Given the description of an element on the screen output the (x, y) to click on. 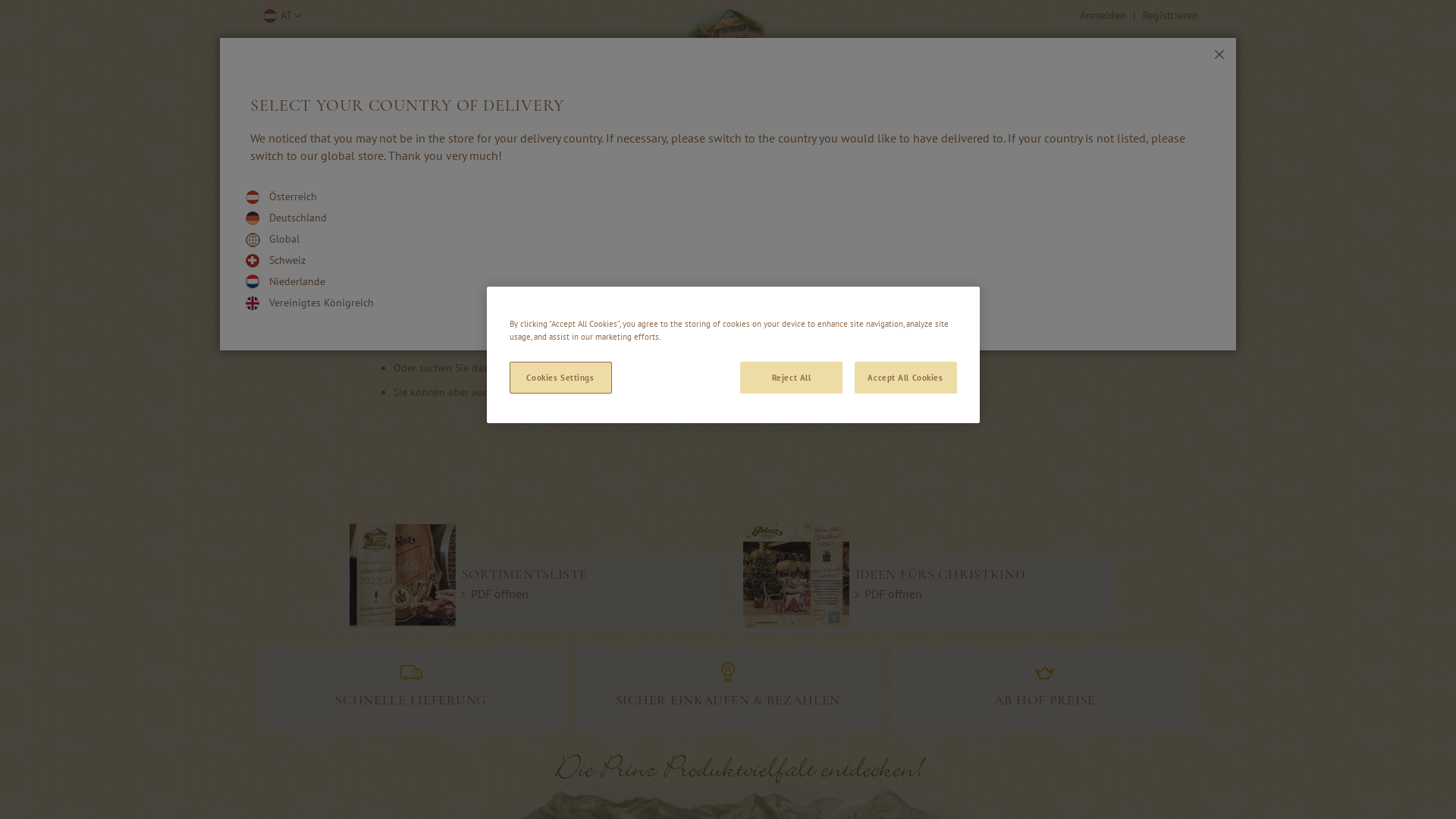
Cookies Settings Element type: text (560, 377)
Schweiz Element type: text (287, 260)
NEUHEITEN & SAISONALES Element type: text (996, 130)
Anmelden Element type: text (1102, 15)
Warenkorb Element type: text (1137, 86)
FEIN-BRENNEREI Element type: text (324, 130)
UNSERE FRUCHTSORTEN Element type: text (1130, 130)
Prinz Sortimentsliste Herbst - Winter 2023/24 Element type: hover (402, 574)
Startseite Element type: text (553, 391)
Prinz Sortimentsliste Herbst - Winter 2023/24 Element type: hover (796, 574)
Niederlande Element type: text (296, 281)
Registrieren Element type: text (1170, 15)
Reject All Element type: text (791, 377)
Deutschland Element type: text (297, 217)
Suche Element type: text (1037, 87)
Kundenzugang Element type: text (683, 391)
Accept All Cookies Element type: text (905, 377)
0043 5573 82203 Element type: text (358, 90)
Global Element type: text (284, 238)
